Given the description of an element on the screen output the (x, y) to click on. 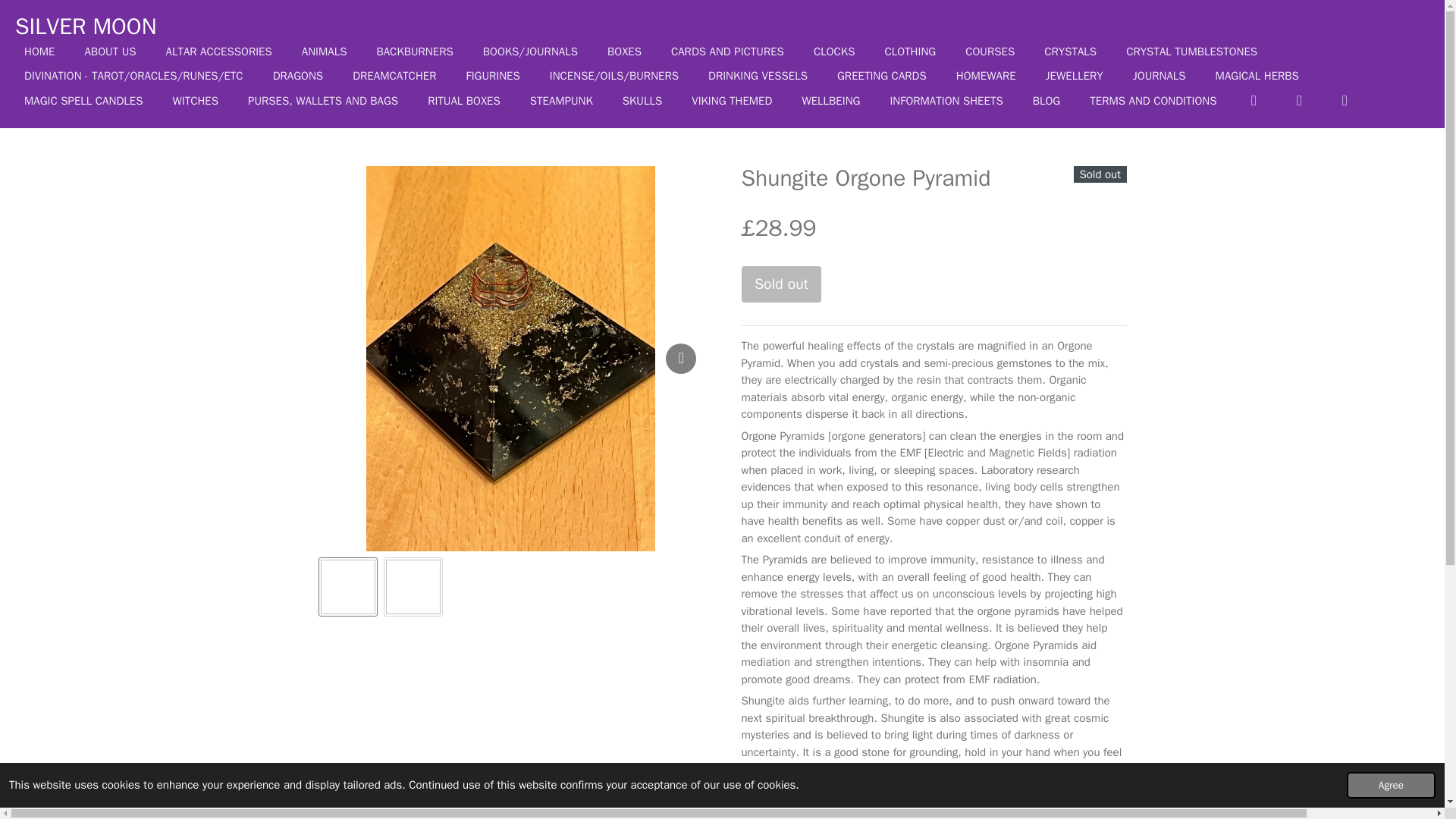
HOME (39, 51)
Sold out (781, 283)
SKULLS (641, 100)
CLOTHING (909, 51)
ABOUT US (109, 51)
DRINKING VESSELS (757, 75)
ALTAR ACCESSORIES (219, 51)
MAGIC SPELL CANDLES (82, 100)
GREETING CARDS (882, 75)
DRAGONS (298, 75)
